Given the description of an element on the screen output the (x, y) to click on. 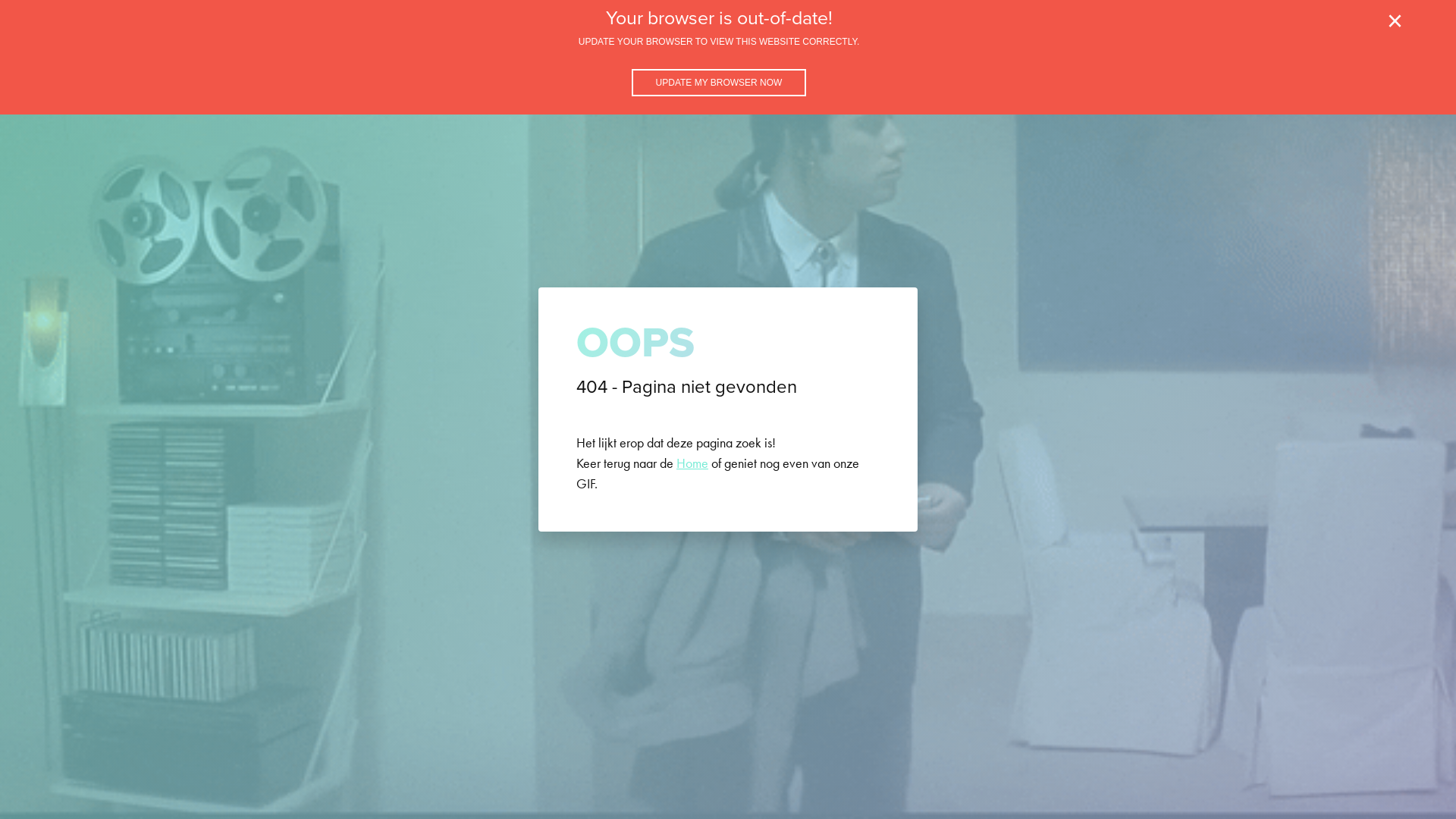
Home Element type: text (692, 462)
UPDATE MY BROWSER NOW Element type: text (718, 82)
